Given the description of an element on the screen output the (x, y) to click on. 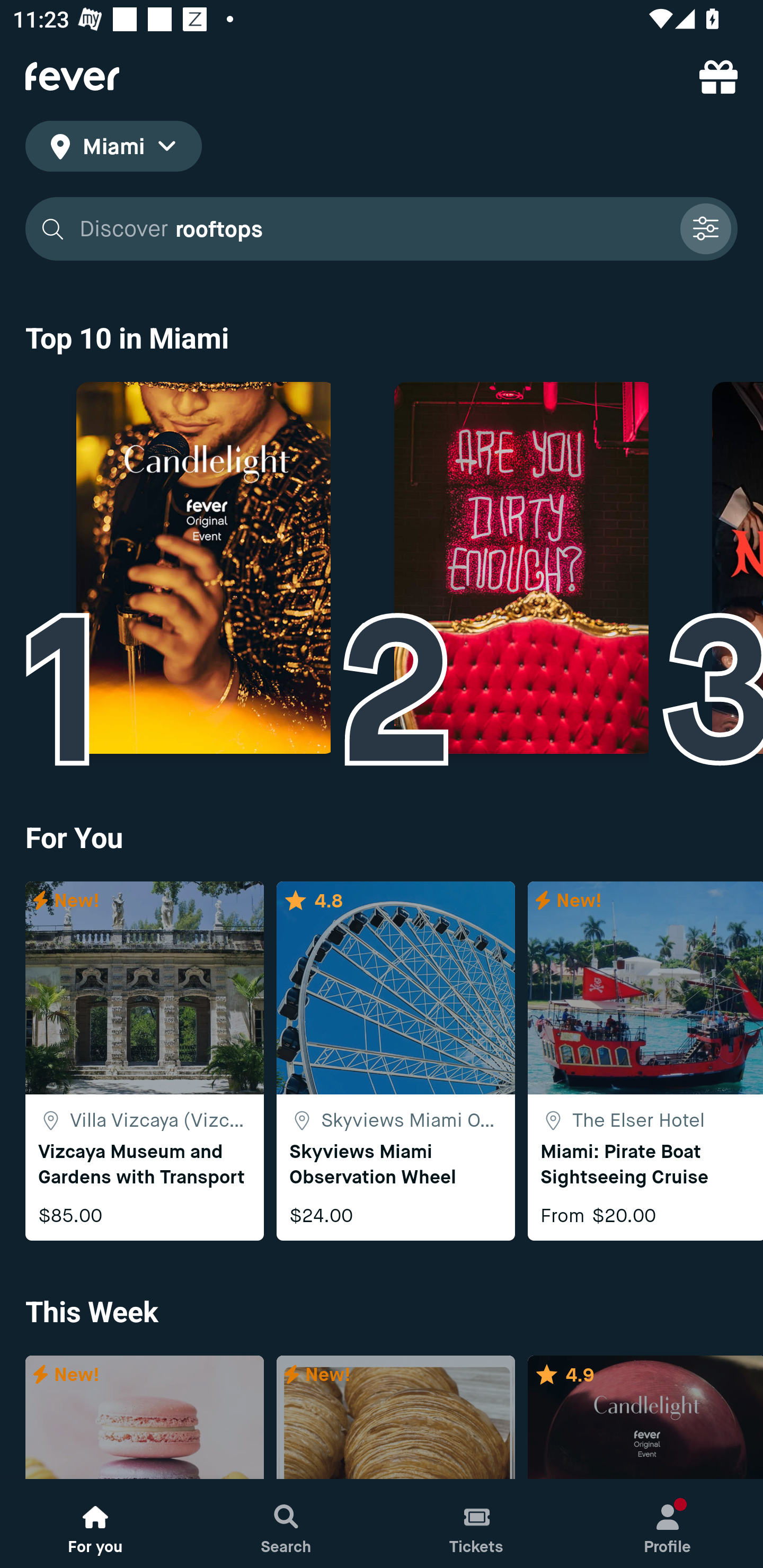
referral (718, 75)
location icon Miami location icon (113, 149)
Discover rooftops (381, 228)
Discover rooftops (373, 228)
Search (285, 1523)
Tickets (476, 1523)
Profile, New notification Profile (667, 1523)
